Given the description of an element on the screen output the (x, y) to click on. 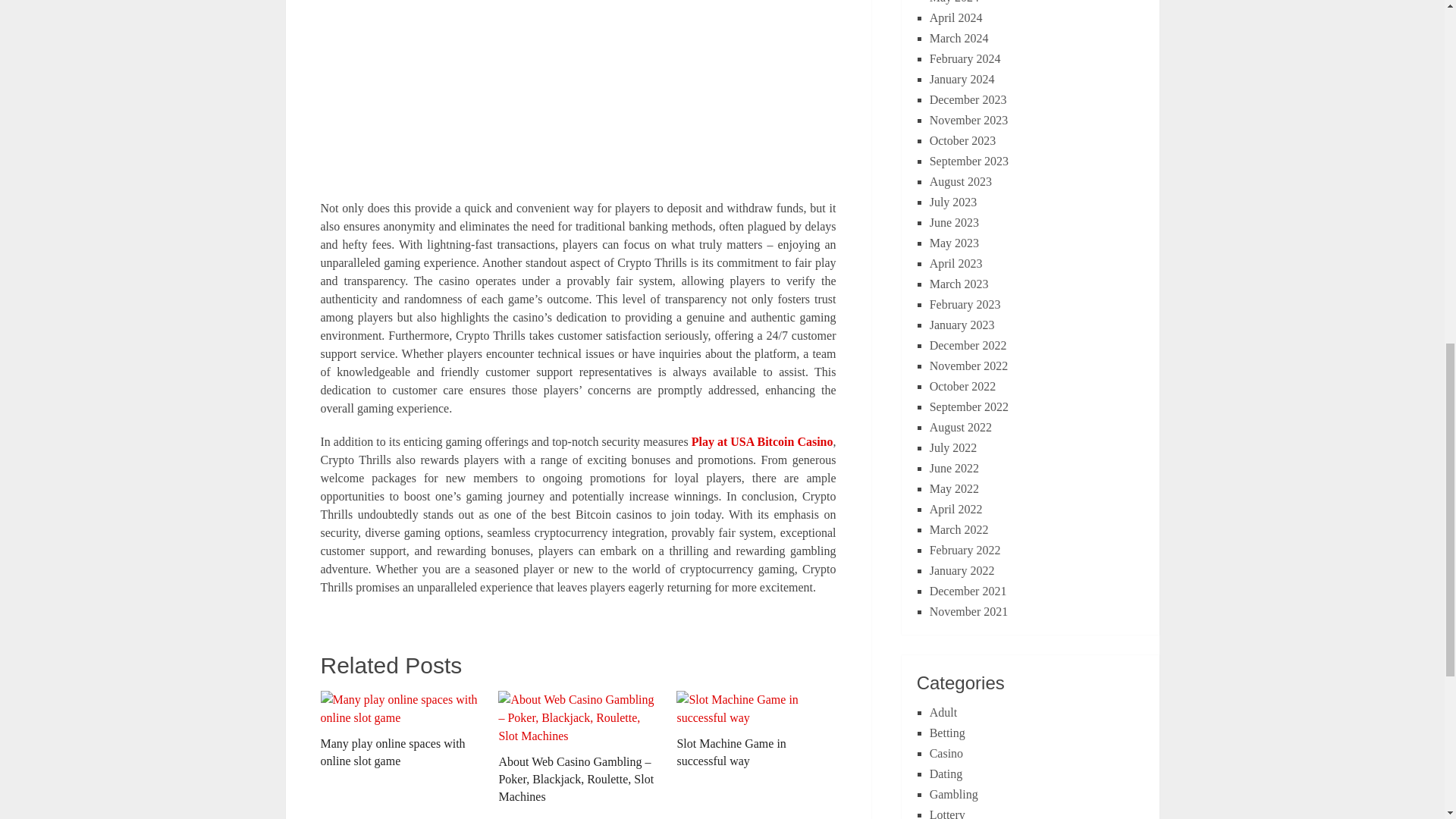
November 2023 (969, 119)
Slot Machine Game in successful way (756, 730)
December 2023 (968, 99)
February 2024 (965, 58)
Play at USA Bitcoin Casino (761, 440)
October 2023 (962, 140)
September 2023 (969, 160)
January 2024 (962, 78)
May 2024 (954, 2)
Slot Machine Game in successful way (756, 730)
April 2024 (956, 17)
August 2023 (960, 181)
Many play online spaces with online slot game (399, 730)
March 2024 (959, 38)
Many play online spaces with online slot game (399, 730)
